Given the description of an element on the screen output the (x, y) to click on. 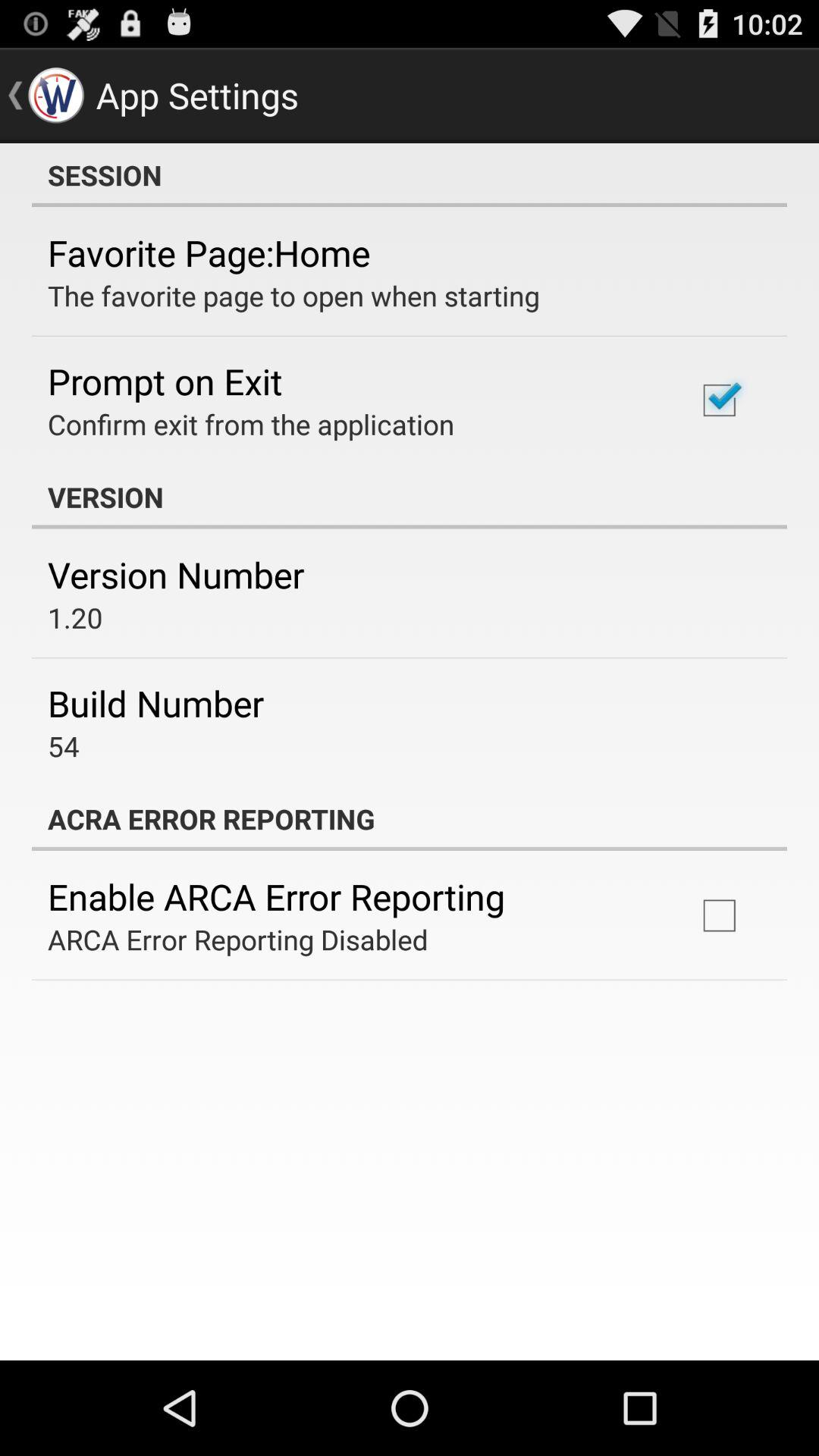
swipe until version number (175, 574)
